Given the description of an element on the screen output the (x, y) to click on. 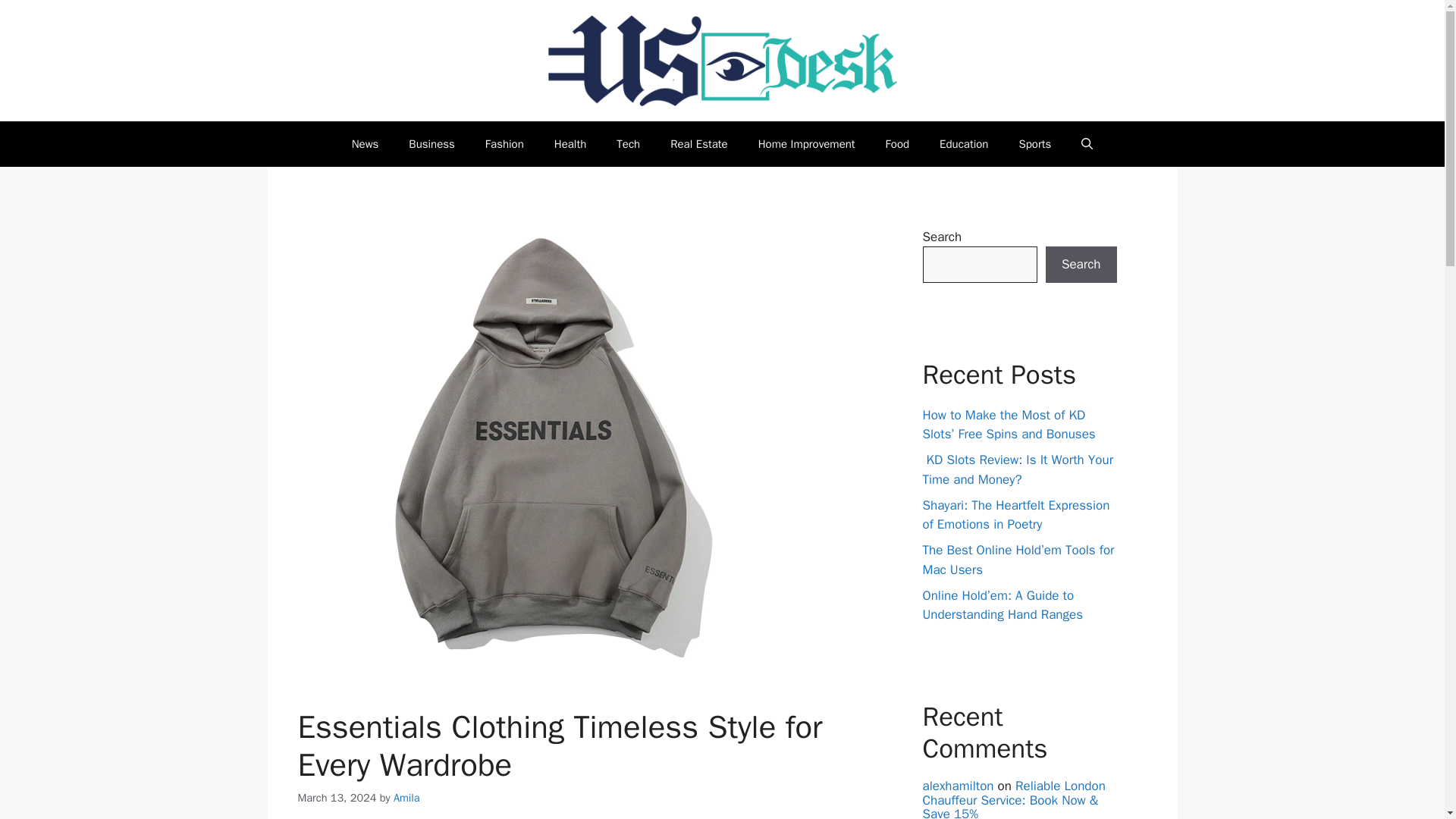
Sports (1034, 144)
alexhamilton (956, 785)
 KD Slots Review: Is It Worth Your Time and Money? (1017, 469)
Shayari: The Heartfelt Expression of Emotions in Poetry (1015, 515)
Search (1080, 264)
News (365, 144)
Health (570, 144)
Fashion (504, 144)
Tech (628, 144)
Education (963, 144)
